Given the description of an element on the screen output the (x, y) to click on. 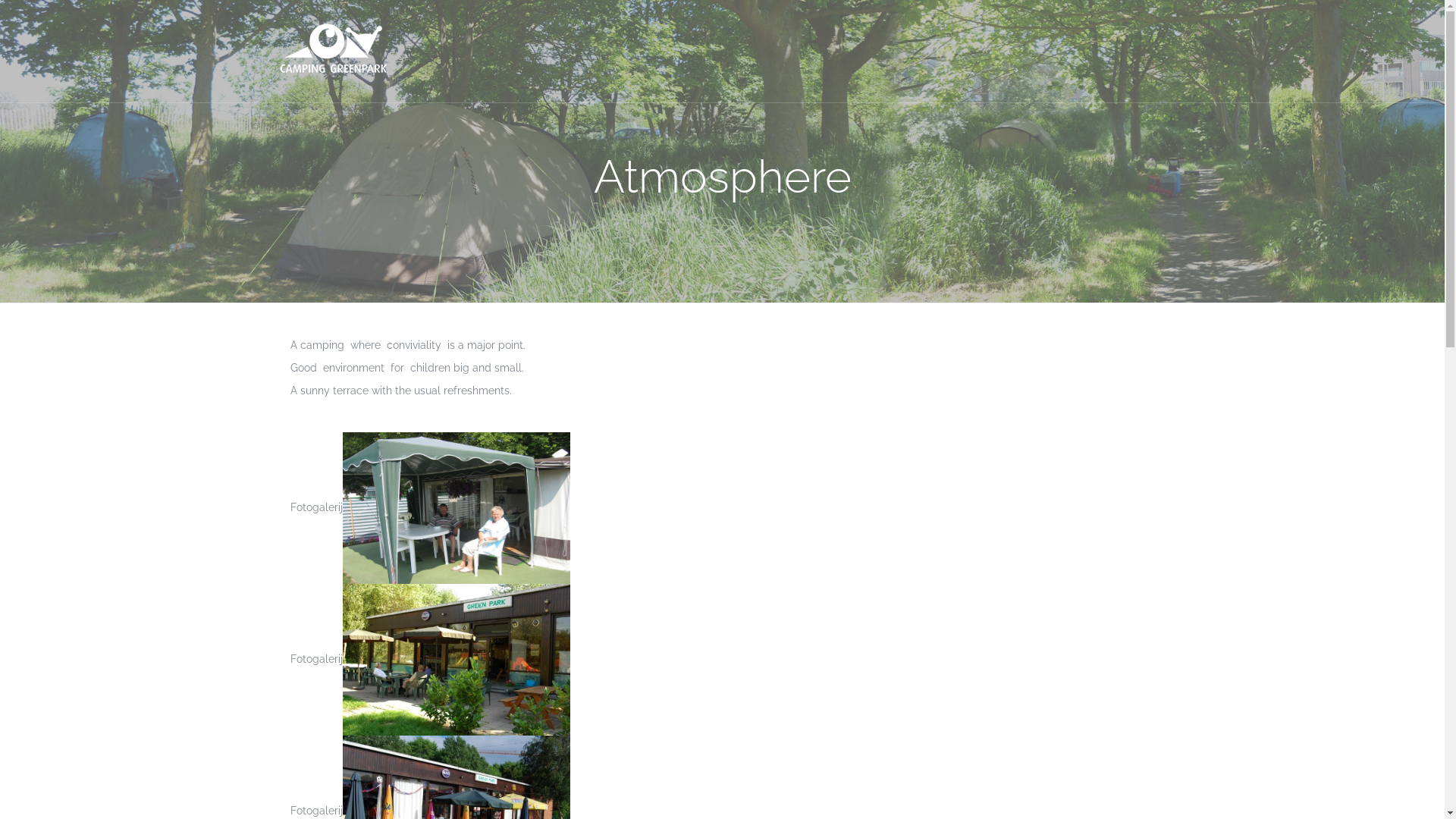
DE Element type: text (395, 79)
Fotogalerij Element type: text (429, 658)
Fotogalerij Element type: text (429, 810)
Fotogalerij Element type: text (429, 507)
NL Element type: text (395, 11)
FR Element type: text (394, 34)
EN Element type: text (395, 56)
